Given the description of an element on the screen output the (x, y) to click on. 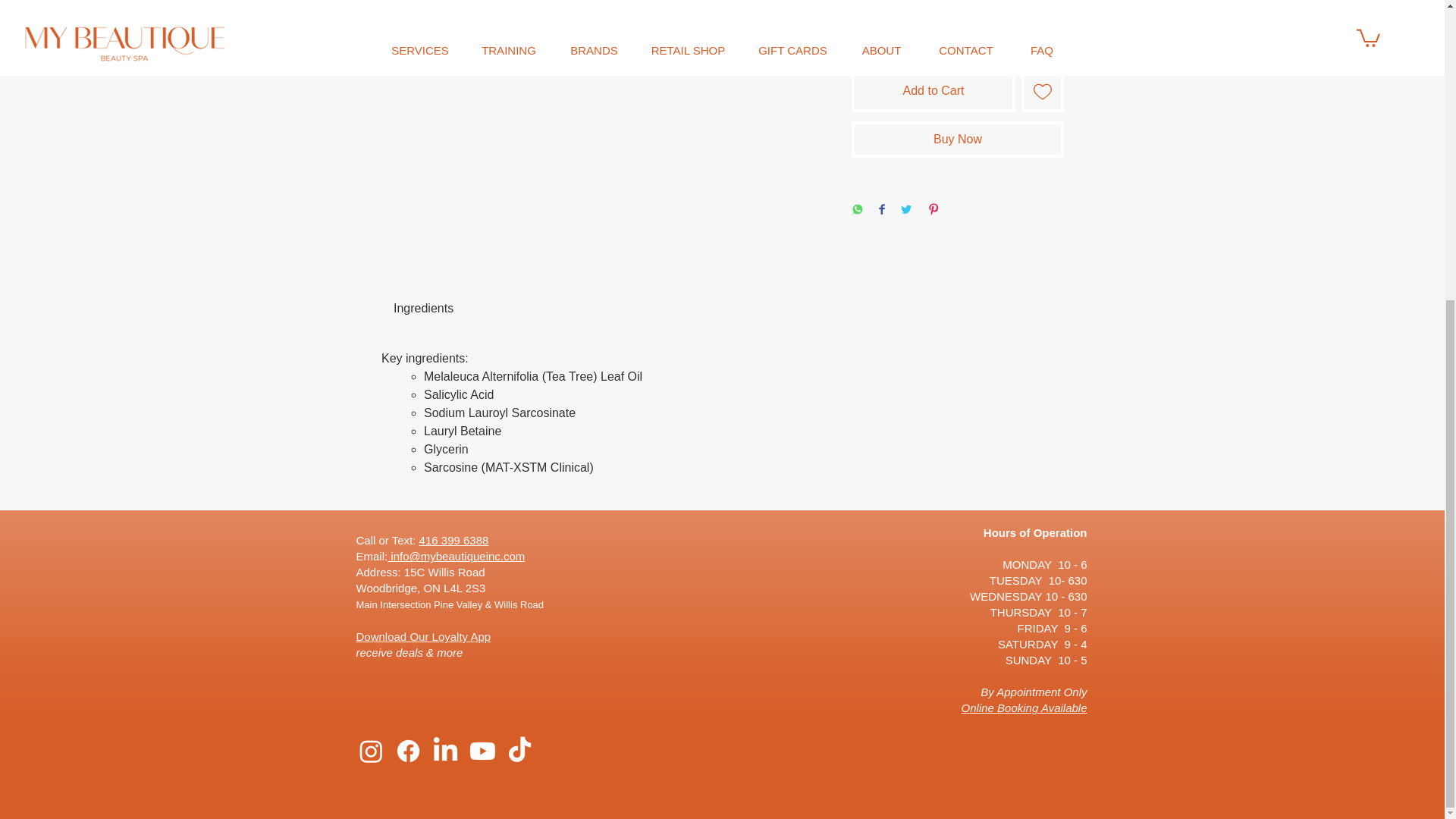
Use right and left arrows to navigate between tabs (423, 308)
1 (878, 30)
Buy Now (957, 139)
Add to Cart (932, 90)
